Given the description of an element on the screen output the (x, y) to click on. 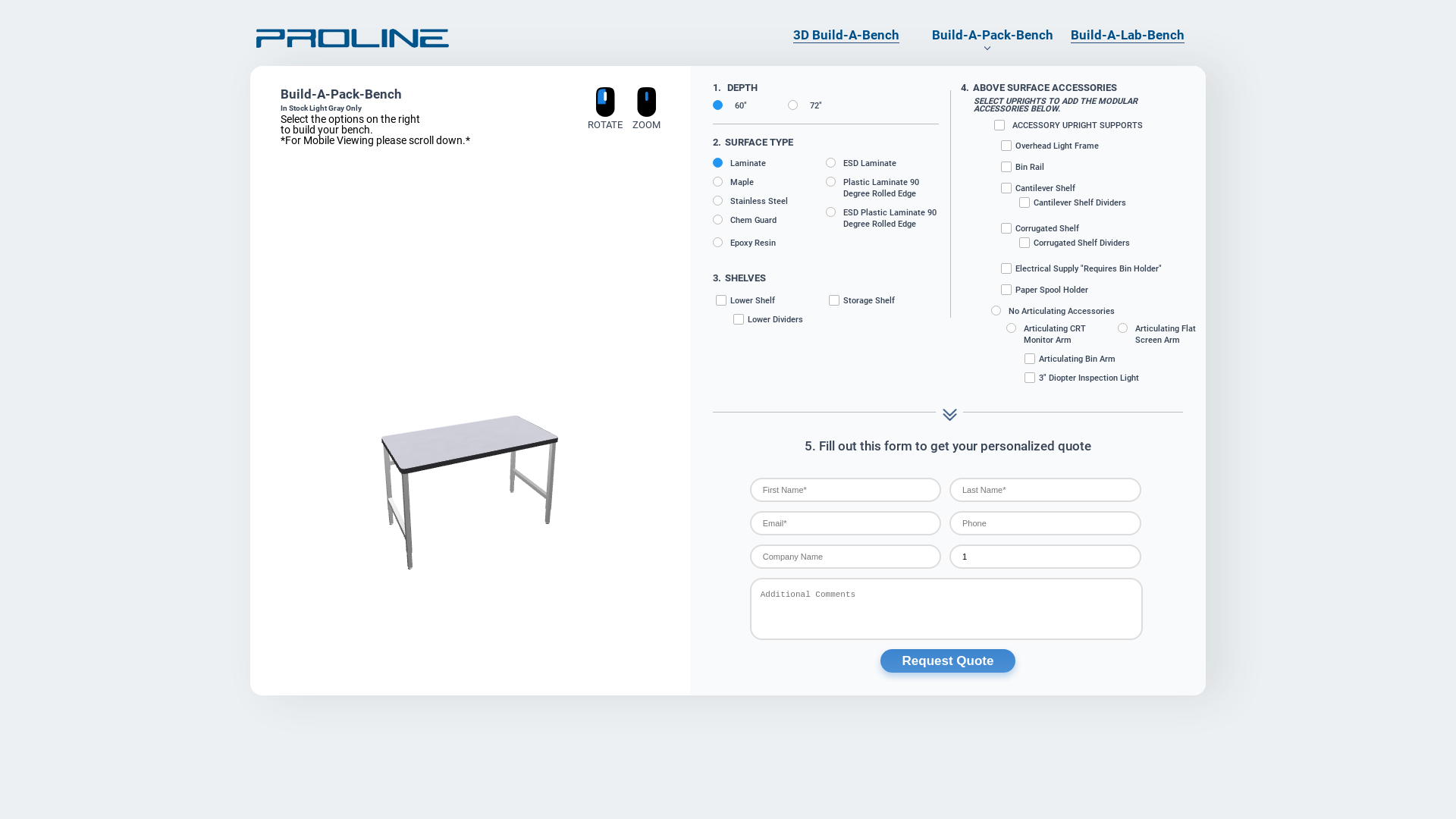
Build-A-Lab-Bench Element type: text (1127, 35)
Build-A-Pack-Bench Element type: text (992, 34)
3D Build-A-Bench Element type: text (846, 35)
ROTATE Element type: text (604, 118)
ZOOM Element type: text (646, 118)
Request Quote Element type: text (947, 660)
